Given the description of an element on the screen output the (x, y) to click on. 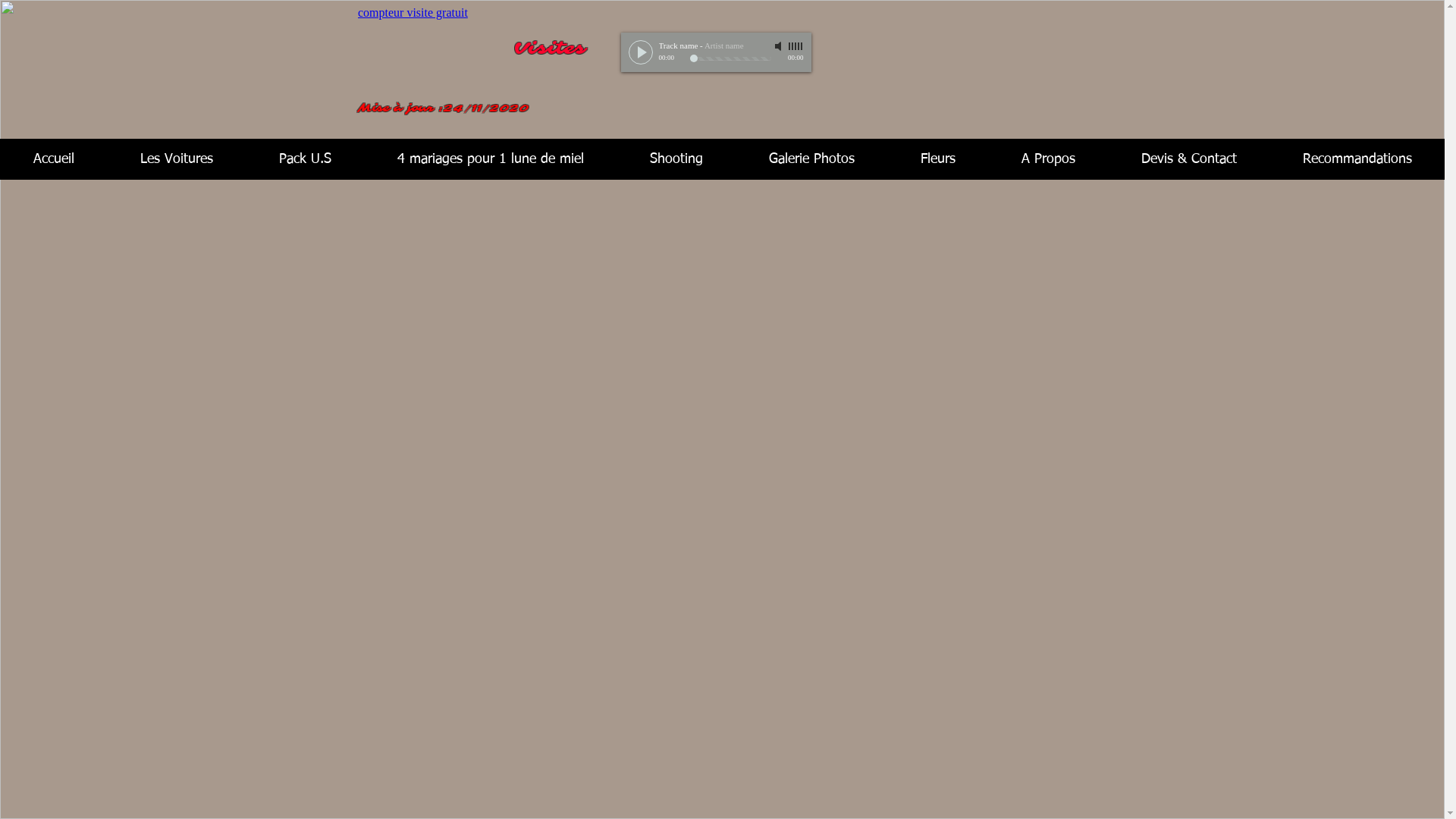
Recommandations Element type: text (1356, 158)
Pack U.S Element type: text (304, 158)
Devis & Contact Element type: text (1188, 158)
Shooting Element type: text (675, 158)
4 mariages pour 1 lune de miel Element type: text (490, 158)
A Propos Element type: text (1047, 158)
Les Voitures Element type: text (175, 158)
Fleurs Element type: text (937, 158)
Galerie Photos Element type: text (811, 158)
Accueil Element type: text (53, 158)
Embedded Content Element type: hover (437, 32)
